Given the description of an element on the screen output the (x, y) to click on. 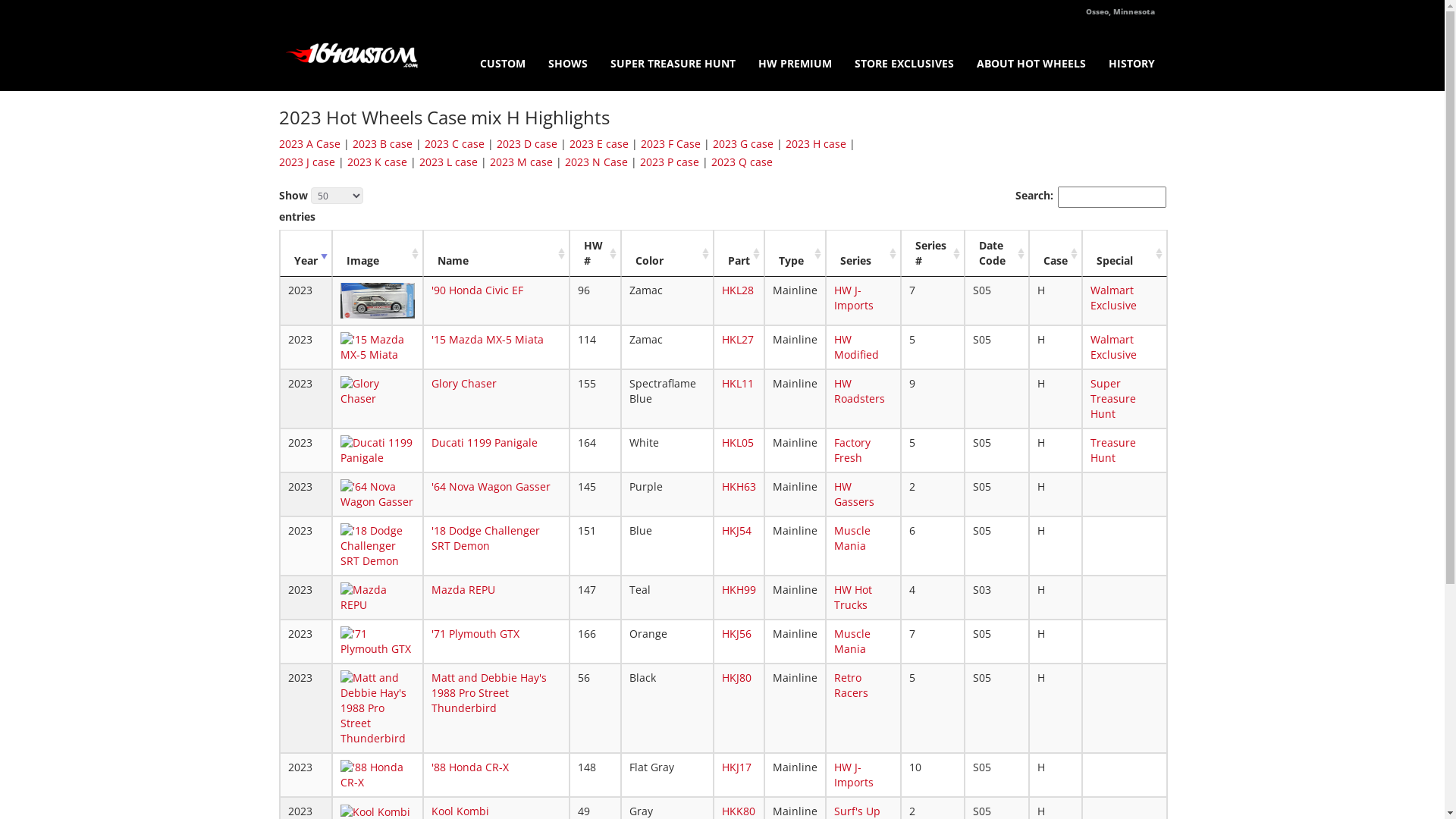
Muscle Mania Element type: text (852, 640)
Matt and Debbie Hay's 1988 Pro Street Thunderbird Element type: text (488, 692)
'18 Dodge Challenger SRT Demon Element type: text (485, 537)
Mazda REPU Element type: text (463, 589)
HKJ56 Element type: text (736, 633)
Ducati 1199 Panigale Element type: text (484, 442)
HKJ54 Element type: text (736, 530)
2023 F Case Element type: text (669, 143)
ABOUT HOT WHEELS Element type: text (1030, 56)
'64 Nova Wagon Gasser Element type: text (490, 486)
2023 G case Element type: text (742, 143)
2023 A Case Element type: text (309, 143)
HW J-Imports Element type: text (853, 774)
2023 N Case Element type: text (595, 161)
STORE EXCLUSIVES Element type: text (904, 56)
2023 E case Element type: text (597, 143)
Super Treasure Hunt Element type: text (1112, 398)
2023 M case Element type: text (520, 161)
2023 P case Element type: text (669, 161)
HKH63 Element type: text (738, 486)
2023 H case Element type: text (815, 143)
Glory Chaser Element type: text (463, 383)
HW Gassers Element type: text (854, 493)
HKL11 Element type: text (737, 383)
2023 B case Element type: text (381, 143)
Walmart Exclusive Element type: text (1113, 297)
CUSTOM Element type: text (502, 56)
'90 Honda Civic EF Element type: text (477, 289)
2023 K case Element type: text (377, 161)
Surf's Up Element type: text (857, 810)
Walmart Exclusive Element type: text (1113, 346)
HW J-Imports Element type: text (853, 297)
Muscle Mania Element type: text (852, 537)
HKJ80 Element type: text (736, 677)
'88 Honda CR-X Element type: text (469, 766)
HKL27 Element type: text (737, 339)
SHOWS Element type: text (567, 56)
HKL28 Element type: text (737, 289)
2023 C case Element type: text (454, 143)
2023 J case Element type: text (307, 161)
HKL05 Element type: text (737, 442)
Kool Kombi Element type: text (460, 810)
HISTORY Element type: text (1130, 56)
HKJ17 Element type: text (736, 766)
Retro Racers Element type: text (851, 684)
SUPER TREASURE HUNT Element type: text (672, 56)
Treasure Hunt Element type: text (1112, 449)
2023 D case Element type: text (525, 143)
HKK80 Element type: text (738, 810)
HW Hot Trucks Element type: text (853, 596)
HW PREMIUM Element type: text (794, 56)
'15 Mazda MX-5 Miata Element type: text (487, 339)
2023 Q case Element type: text (741, 161)
'71 Plymouth GTX Element type: text (475, 633)
HKH99 Element type: text (738, 589)
HW Roadsters Element type: text (859, 390)
HW Modified Element type: text (856, 346)
Factory Fresh Element type: text (852, 449)
2023 L case Element type: text (447, 161)
